Given the description of an element on the screen output the (x, y) to click on. 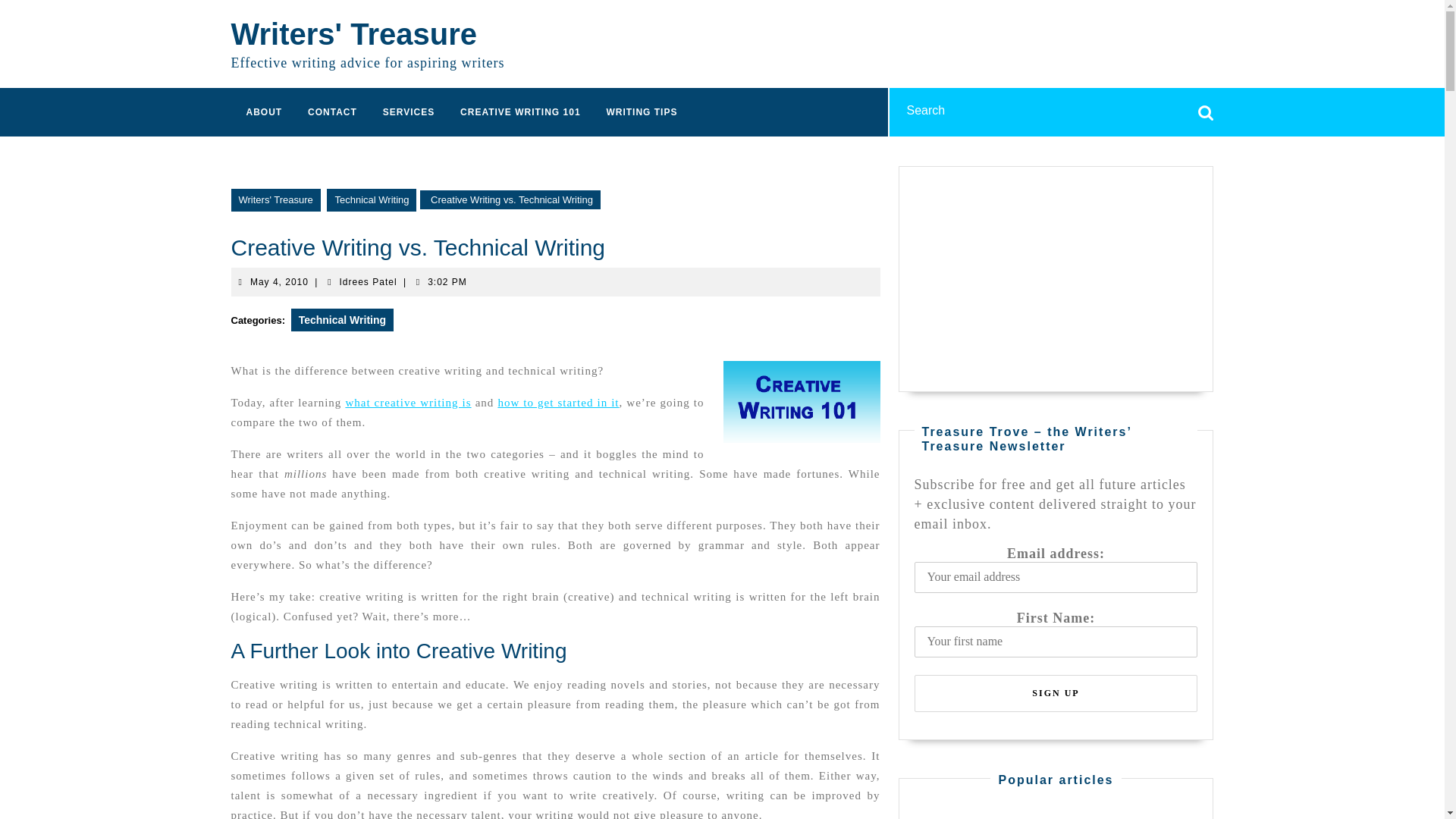
WRITING TIPS (641, 111)
Tips for concise writing, magnetic writing and more (641, 111)
Search (1205, 107)
CONTACT (332, 111)
CREATIVE WRITING 101 (368, 281)
Technical Writing (519, 111)
Search (342, 318)
Creative Writing 101 (1205, 107)
Contact me (279, 281)
Writers' Treasure (801, 402)
ABOUT (332, 111)
SERVICES (275, 200)
what creative writing is (264, 111)
